Given the description of an element on the screen output the (x, y) to click on. 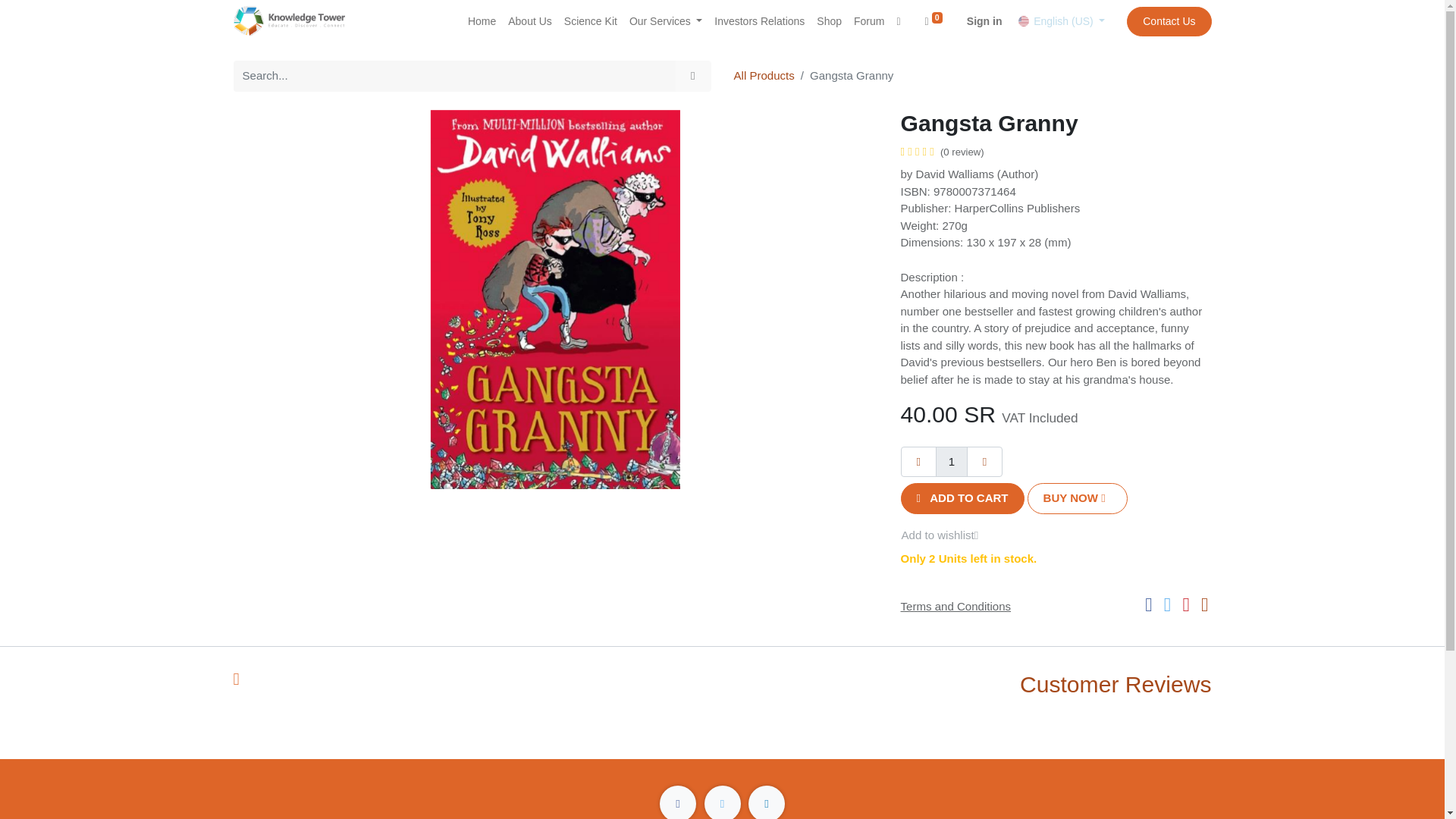
Sign in (984, 21)
Contact Us (1168, 20)
Add to wishlist (949, 535)
Add one (984, 461)
Science Kit (590, 21)
Add to wishlist (949, 535)
ADD TO CART (963, 498)
Knowledge Tower (292, 20)
Our Services (665, 21)
Forum (868, 21)
Investors Relations (758, 21)
Shop (828, 21)
1 (952, 461)
Remove one (919, 461)
Home (481, 21)
